Given the description of an element on the screen output the (x, y) to click on. 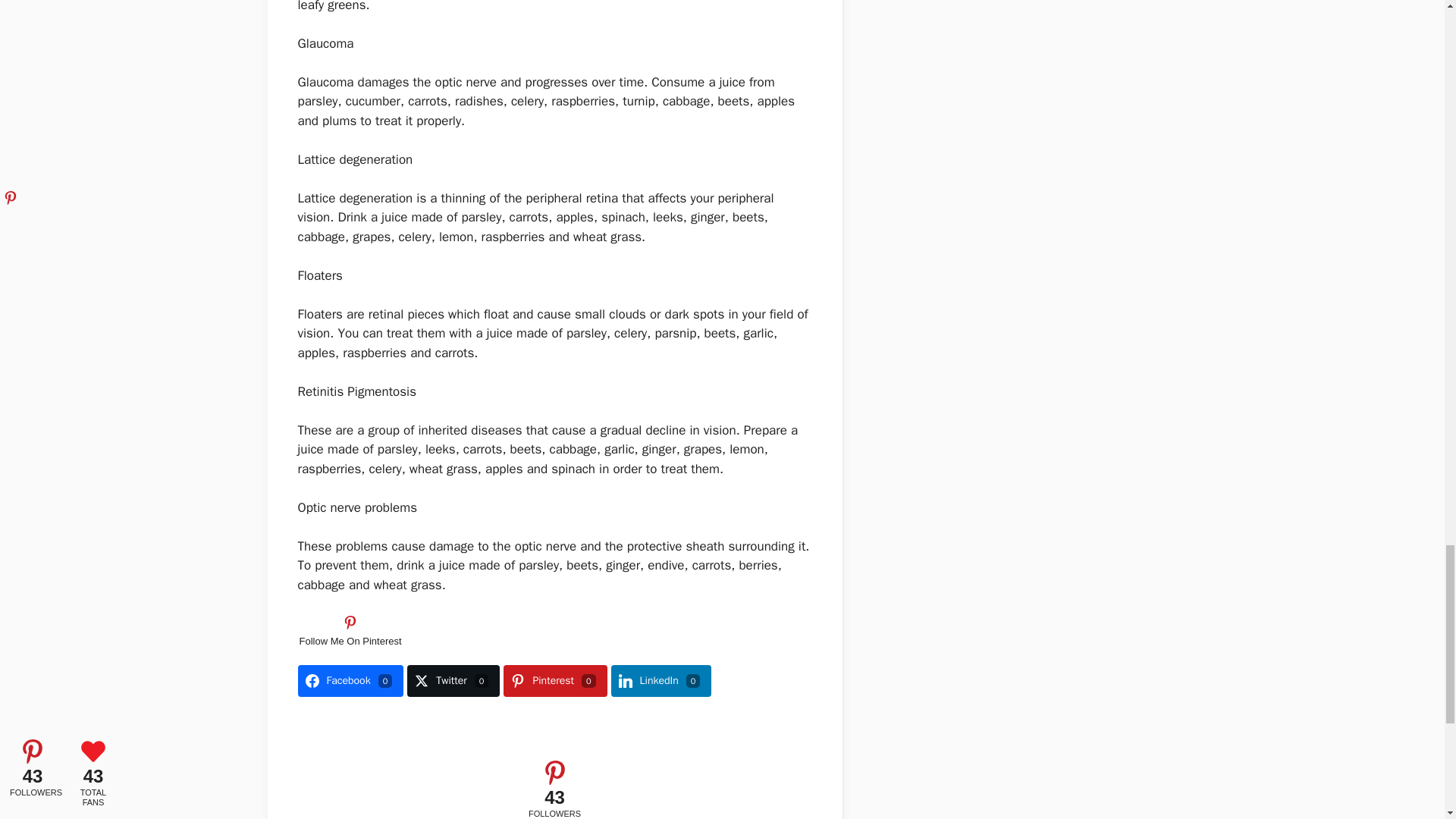
Share on Facebook (350, 680)
Share on Pinterest (555, 680)
Share on LinkedIn (661, 680)
Facebook0 (350, 680)
Pinterest0 (555, 680)
LinkedIn0 (661, 680)
Twitter0 (453, 680)
Share on Twitter (453, 680)
